Given the description of an element on the screen output the (x, y) to click on. 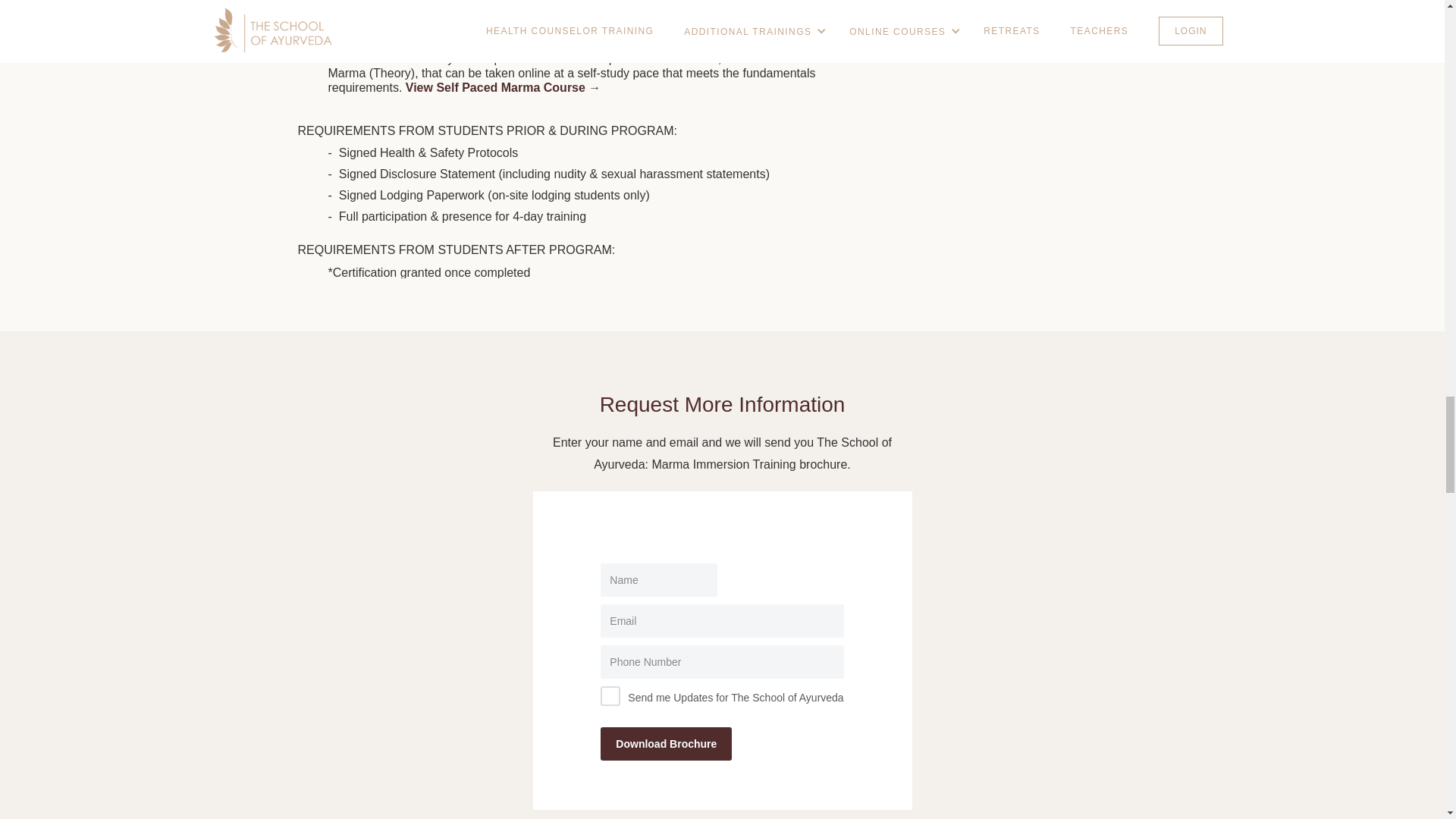
Download Brochure (665, 743)
